Given the description of an element on the screen output the (x, y) to click on. 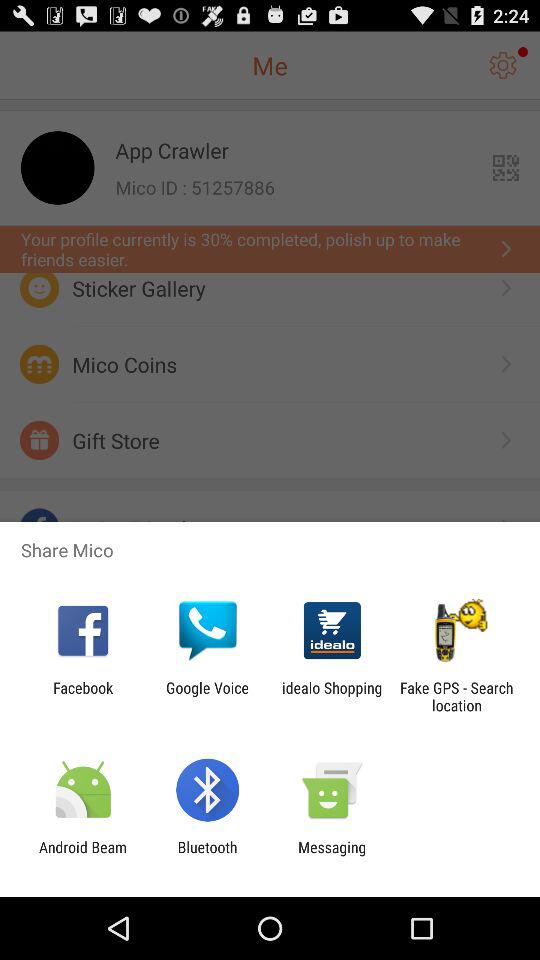
turn on the idealo shopping item (331, 696)
